Given the description of an element on the screen output the (x, y) to click on. 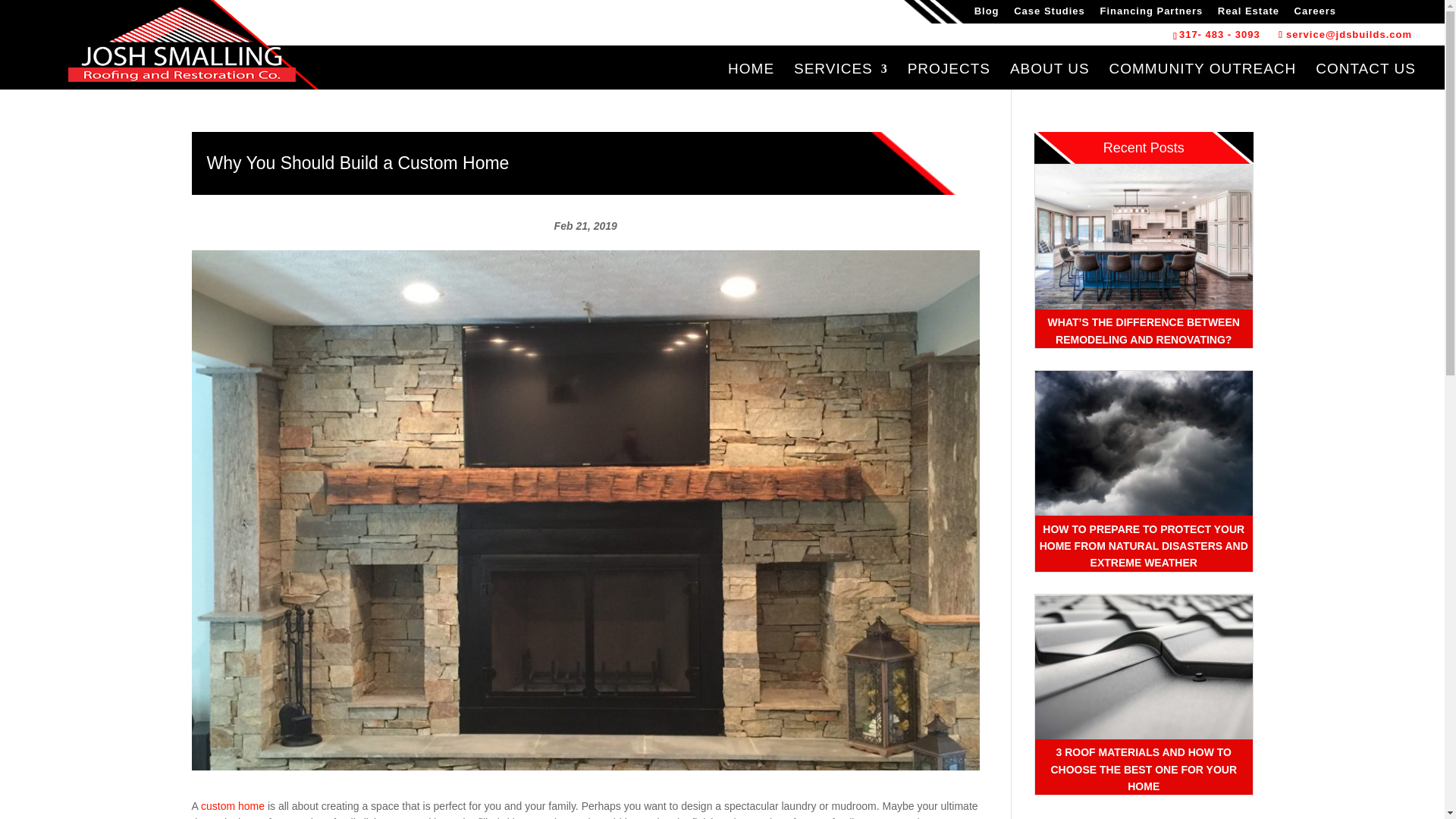
PROJECTS (948, 76)
Case Studies (1048, 11)
custom home (232, 806)
HOME (751, 76)
Blog (986, 11)
CONTACT US (1365, 76)
ABOUT US (1049, 76)
SERVICES (840, 76)
Careers (1315, 11)
